Given the description of an element on the screen output the (x, y) to click on. 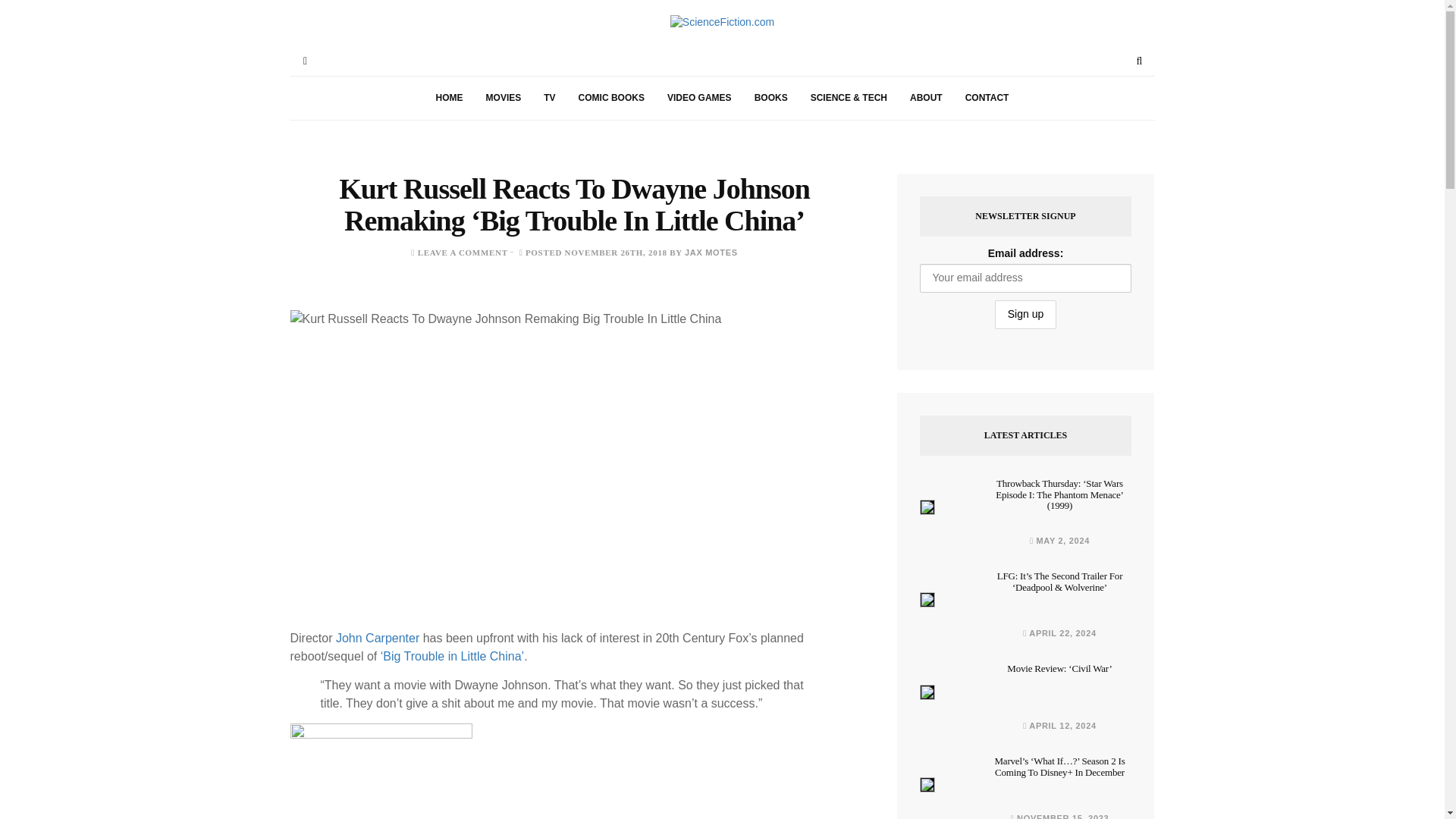
Sign up (1025, 314)
LEAVE A COMMENT (462, 252)
CONTACT (986, 97)
HOME (449, 97)
Search (1139, 60)
JAX MOTES (711, 252)
BOOKS (770, 97)
MOVIES (503, 97)
John Carpenter (377, 637)
COMIC BOOKS (611, 97)
Posts by Jax Motes (711, 252)
ABOUT (925, 97)
VIDEO GAMES (699, 97)
